Given the description of an element on the screen output the (x, y) to click on. 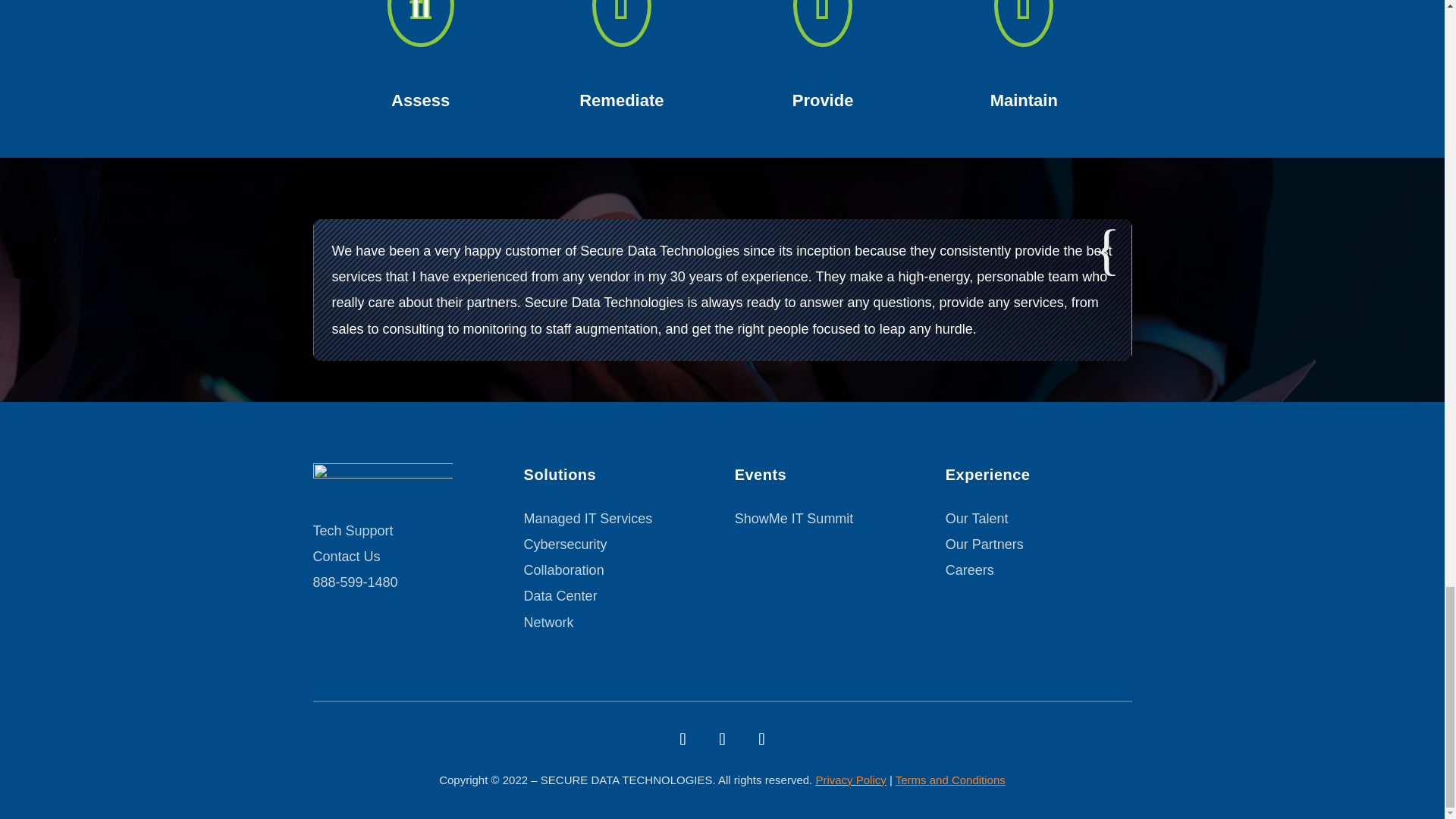
ShowMe IT Summit (794, 518)
Follow on LinkedIn (760, 738)
Events (828, 478)
Solutions (617, 478)
Managed IT Services (588, 518)
Experience (1038, 478)
Contact Us (346, 556)
Our Talent (976, 518)
Our Partners (983, 544)
Follow on Facebook (681, 738)
